Given the description of an element on the screen output the (x, y) to click on. 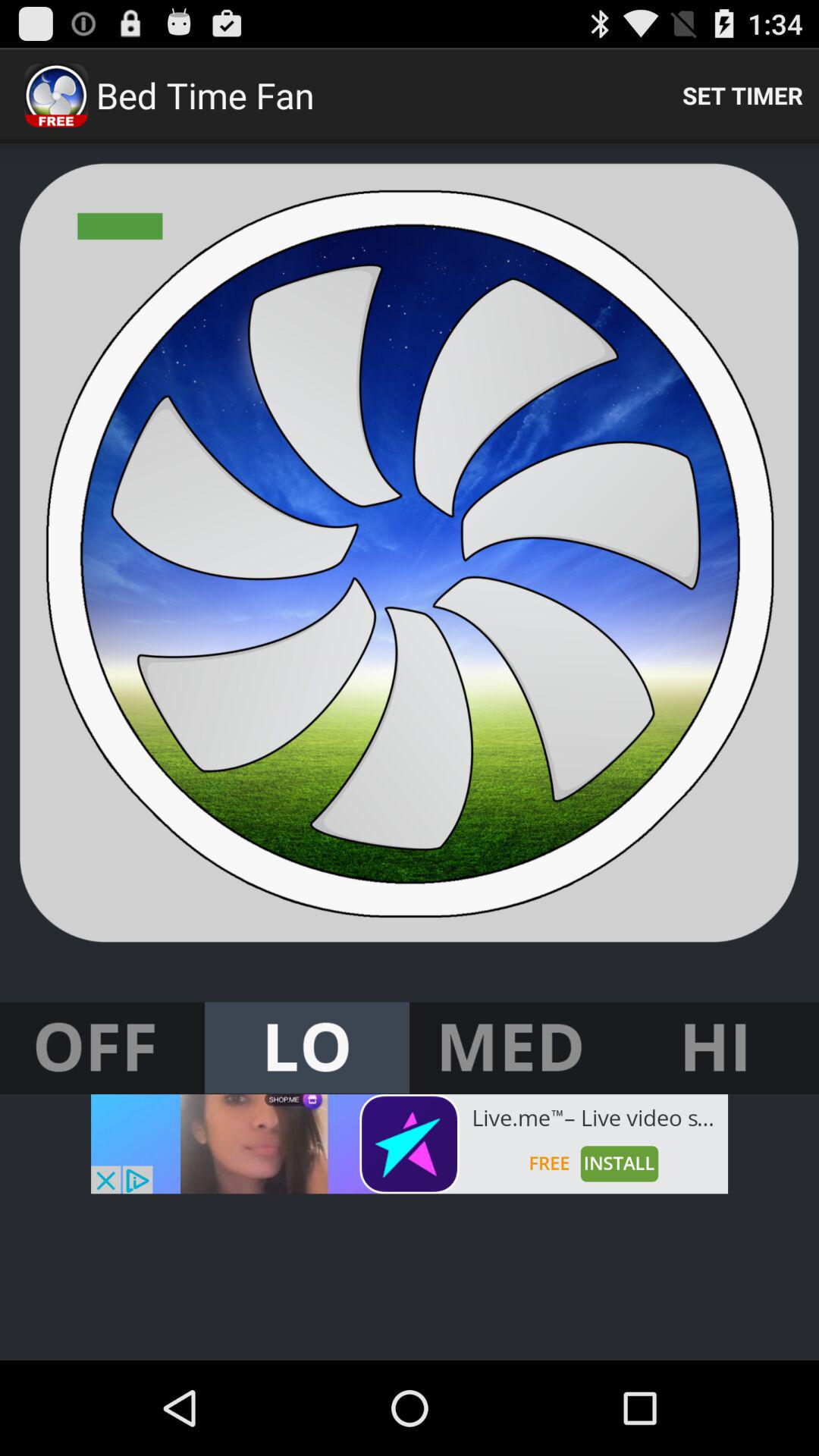
advertisement button (409, 1143)
